Given the description of an element on the screen output the (x, y) to click on. 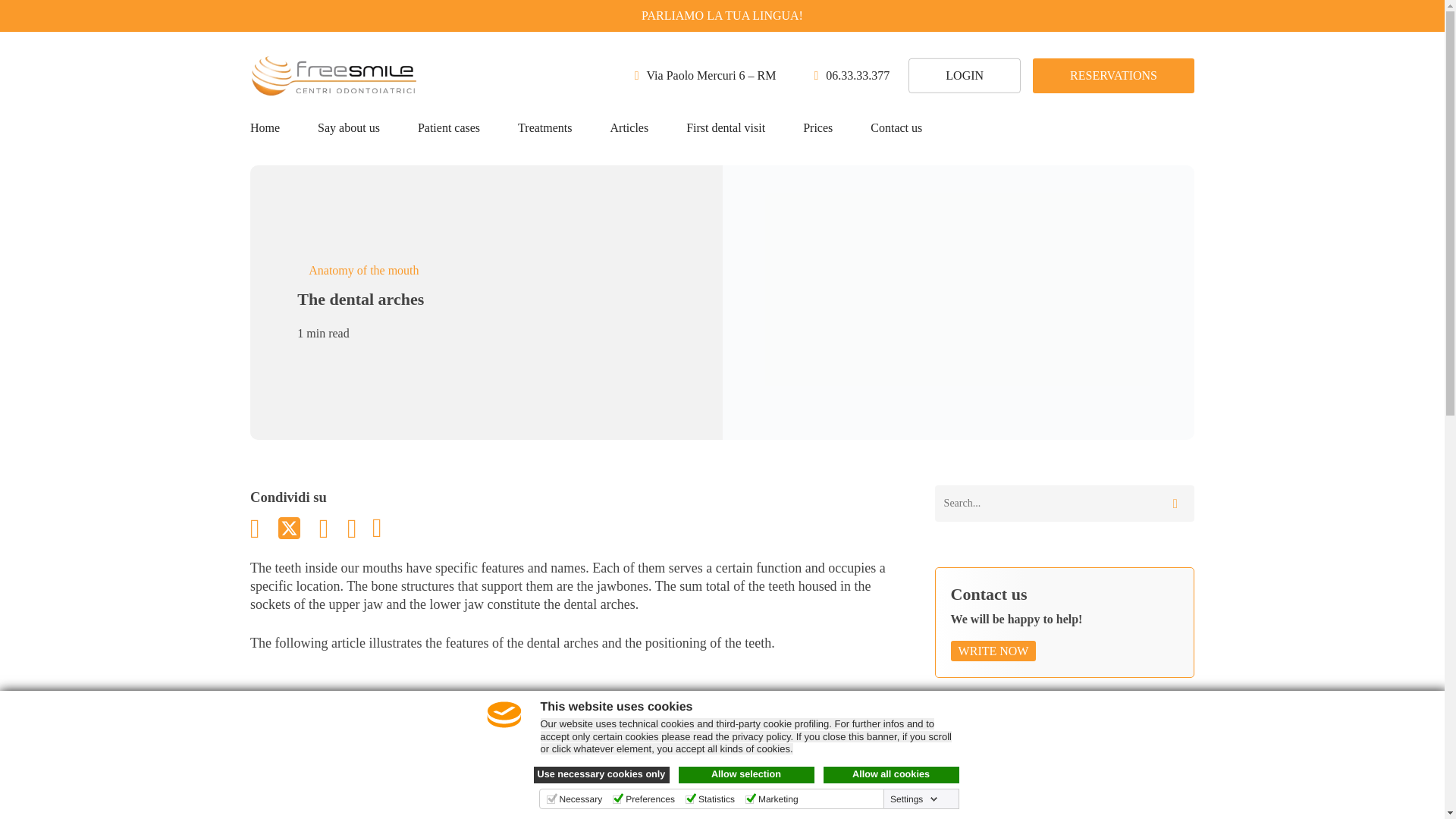
Use necessary cookies only (601, 774)
Settings (913, 799)
Allow selection (745, 774)
Allow all cookies (891, 774)
